Given the description of an element on the screen output the (x, y) to click on. 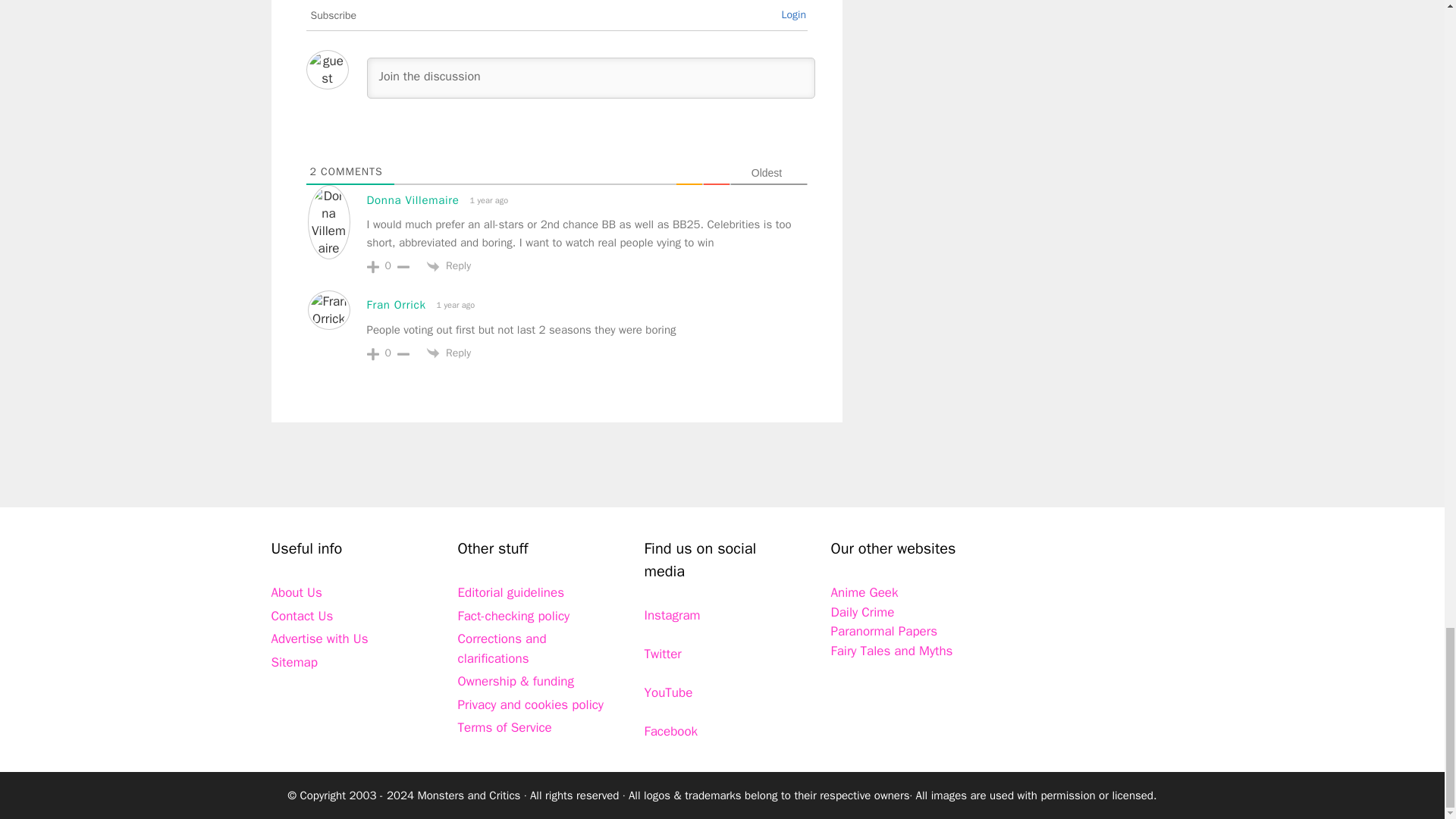
Login (793, 14)
19th May 2023 4:21 pm EDT (454, 305)
Editorial guidelines (511, 592)
Contact Us (301, 616)
Corrections and clarifications (502, 648)
0 (387, 353)
18th May 2023 9:50 pm EDT (487, 200)
Fact-checking policy (514, 616)
About Us (295, 592)
Advertise with Us (319, 638)
